Given the description of an element on the screen output the (x, y) to click on. 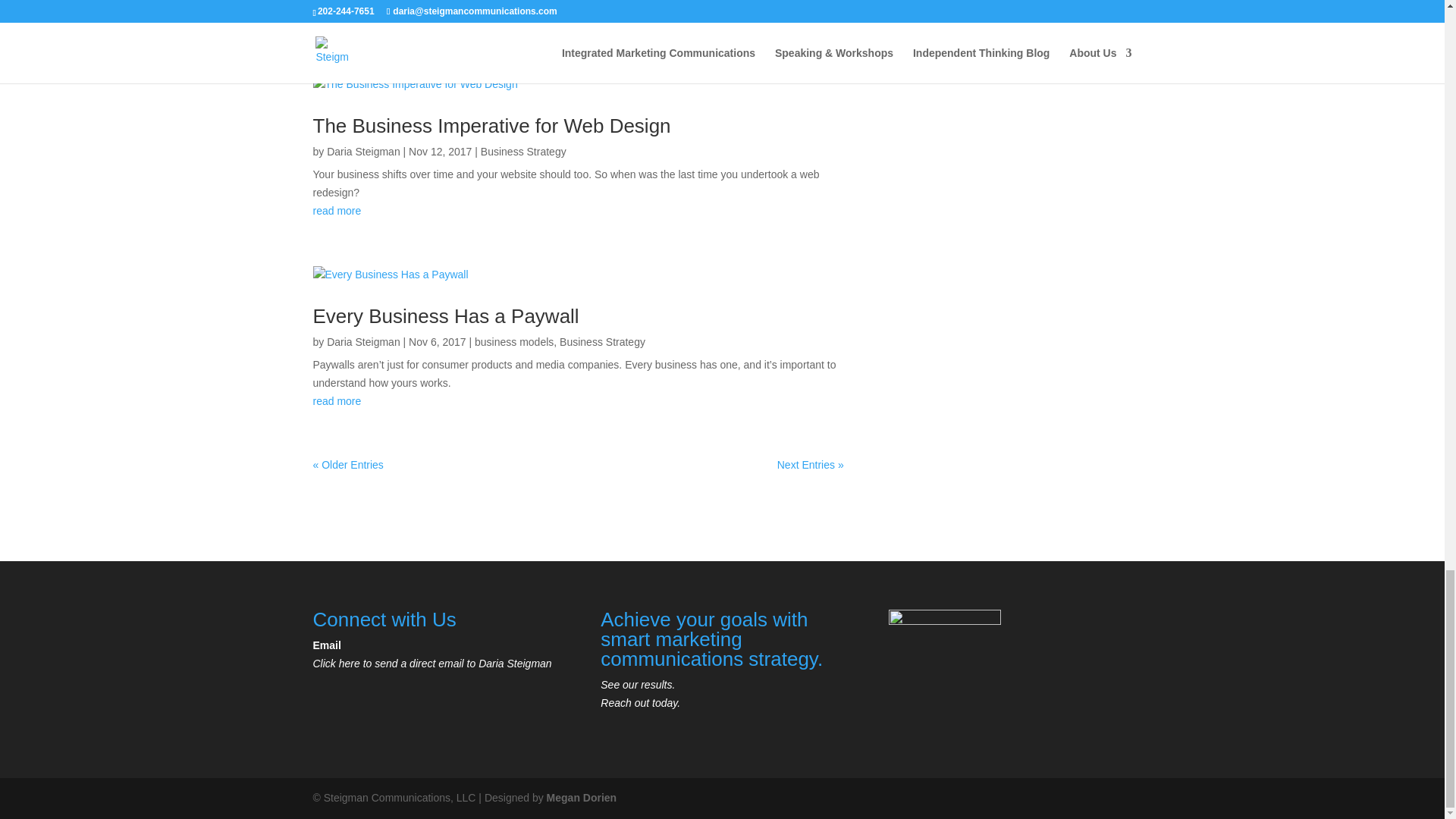
Posts by Daria Steigman (363, 341)
Posts by Daria Steigman (363, 151)
